Given the description of an element on the screen output the (x, y) to click on. 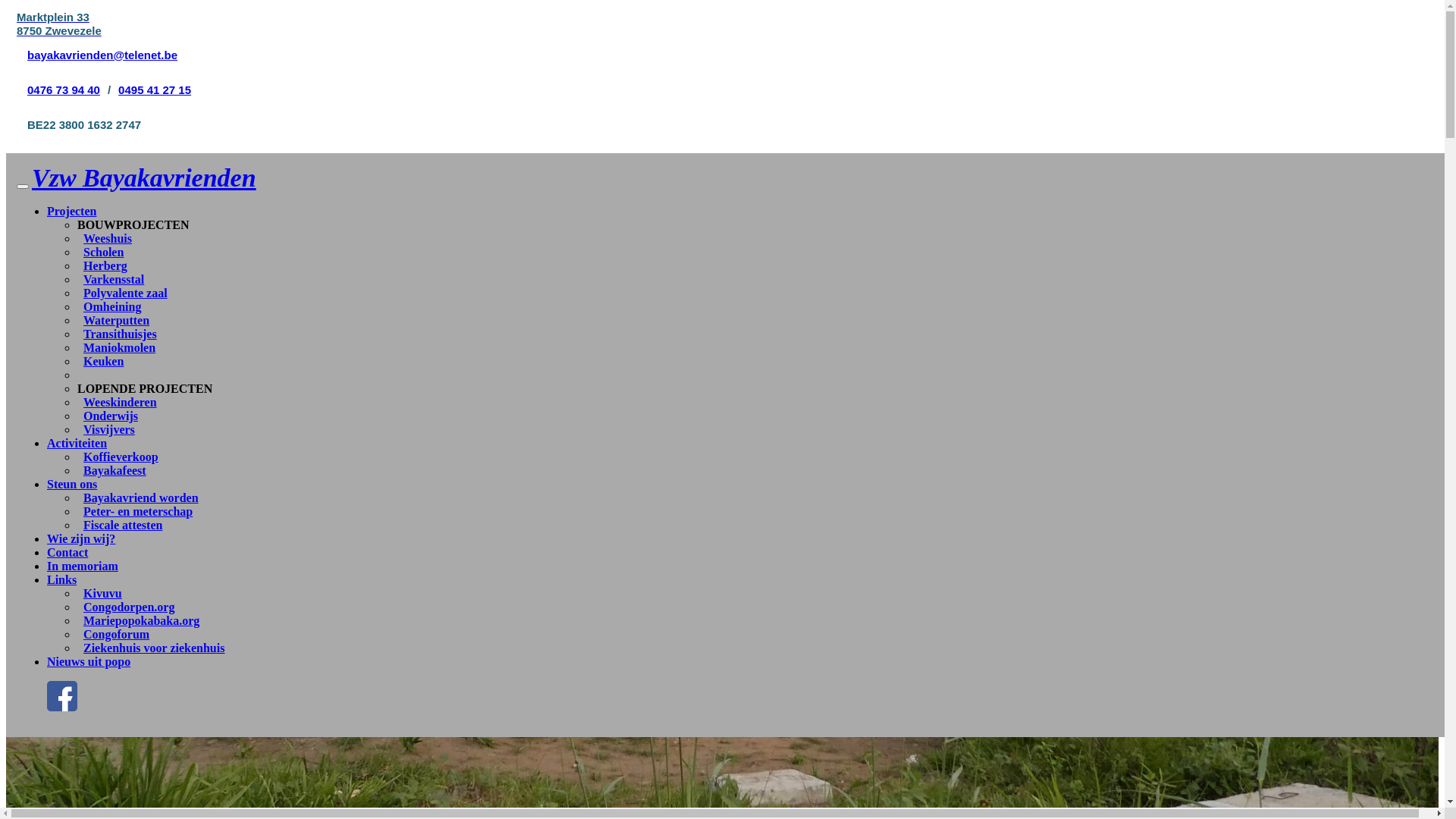
Steun ons Element type: text (72, 483)
Omheining Element type: text (109, 306)
Maniokmolen Element type: text (116, 347)
Mariepopokabaka.org Element type: text (138, 620)
Projecten Element type: text (71, 210)
Kivuvu Element type: text (99, 592)
0495 41 27 15 Element type: text (154, 89)
Nieuws uit popo Element type: text (88, 661)
Weeshuis Element type: text (104, 238)
Congodorpen.org Element type: text (125, 606)
Weeskinderen Element type: text (116, 401)
Bayakafeest Element type: text (111, 470)
Fiscale attesten Element type: text (119, 524)
0476 73 94 40 Element type: text (63, 89)
Onderwijs Element type: text (107, 415)
bayakavrienden@telenet.be Element type: text (102, 54)
Contact Element type: text (67, 552)
Waterputten Element type: text (113, 319)
Scholen Element type: text (100, 251)
Congoforum Element type: text (113, 633)
Koffieverkoop Element type: text (117, 456)
Activiteiten Element type: text (76, 442)
Polyvalente zaal Element type: text (122, 292)
Marktplein 33
8750 Zwevezele Element type: text (58, 23)
Ziekenhuis voor ziekenhuis Element type: text (150, 647)
Peter- en meterschap Element type: text (134, 511)
Vzw Bayakavrienden Element type: text (143, 177)
Herberg Element type: text (102, 265)
Bayakavriend worden Element type: text (137, 497)
Keuken Element type: text (100, 360)
In memoriam Element type: text (82, 565)
Links Element type: text (61, 579)
Visvijvers Element type: text (105, 429)
Transithuisjes Element type: text (116, 333)
Varkensstal Element type: text (110, 279)
Wie zijn wij? Element type: text (81, 538)
